Given the description of an element on the screen output the (x, y) to click on. 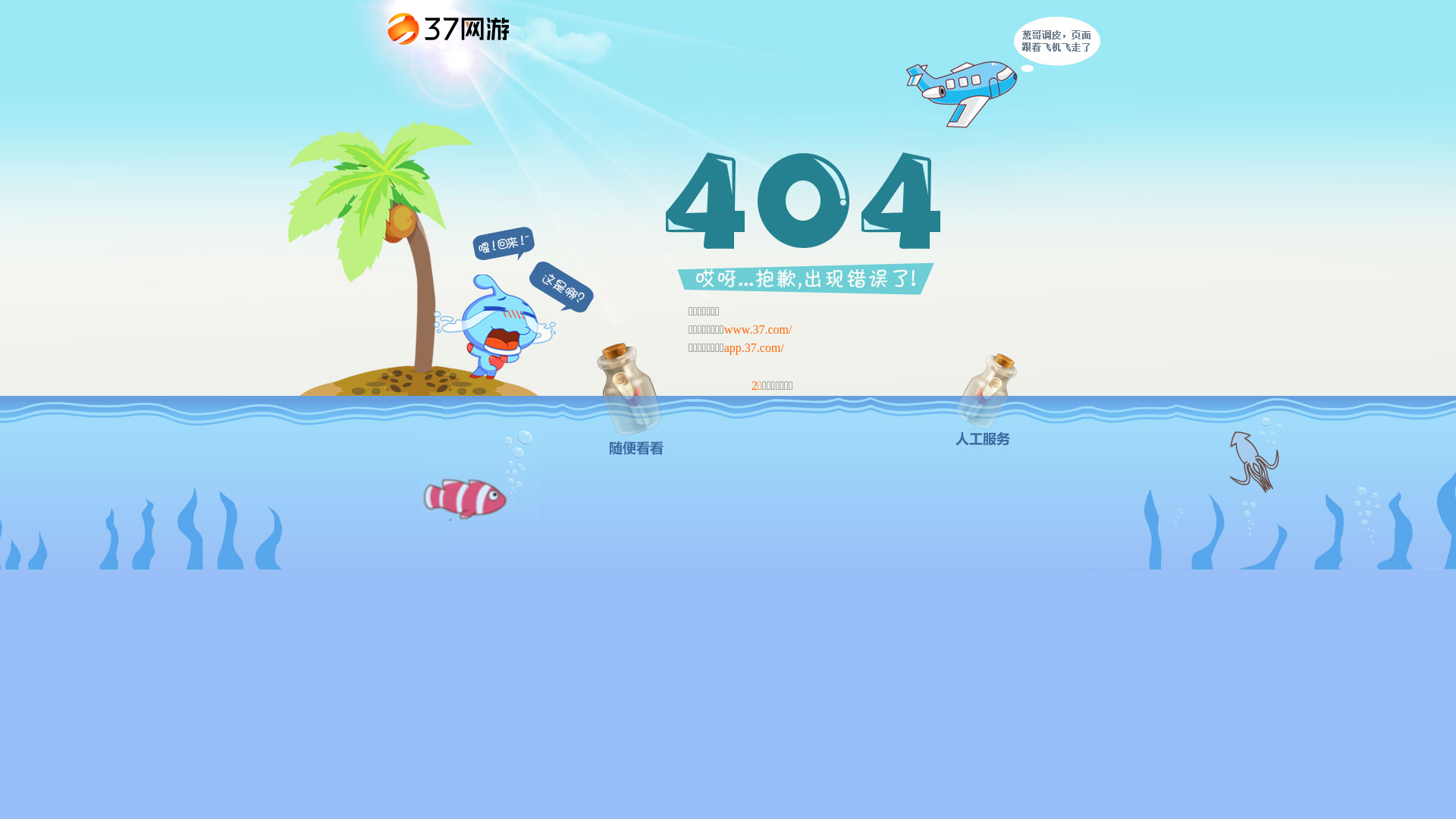
app.37.com/ Element type: text (754, 347)
www.37.com/ Element type: text (758, 329)
